Given the description of an element on the screen output the (x, y) to click on. 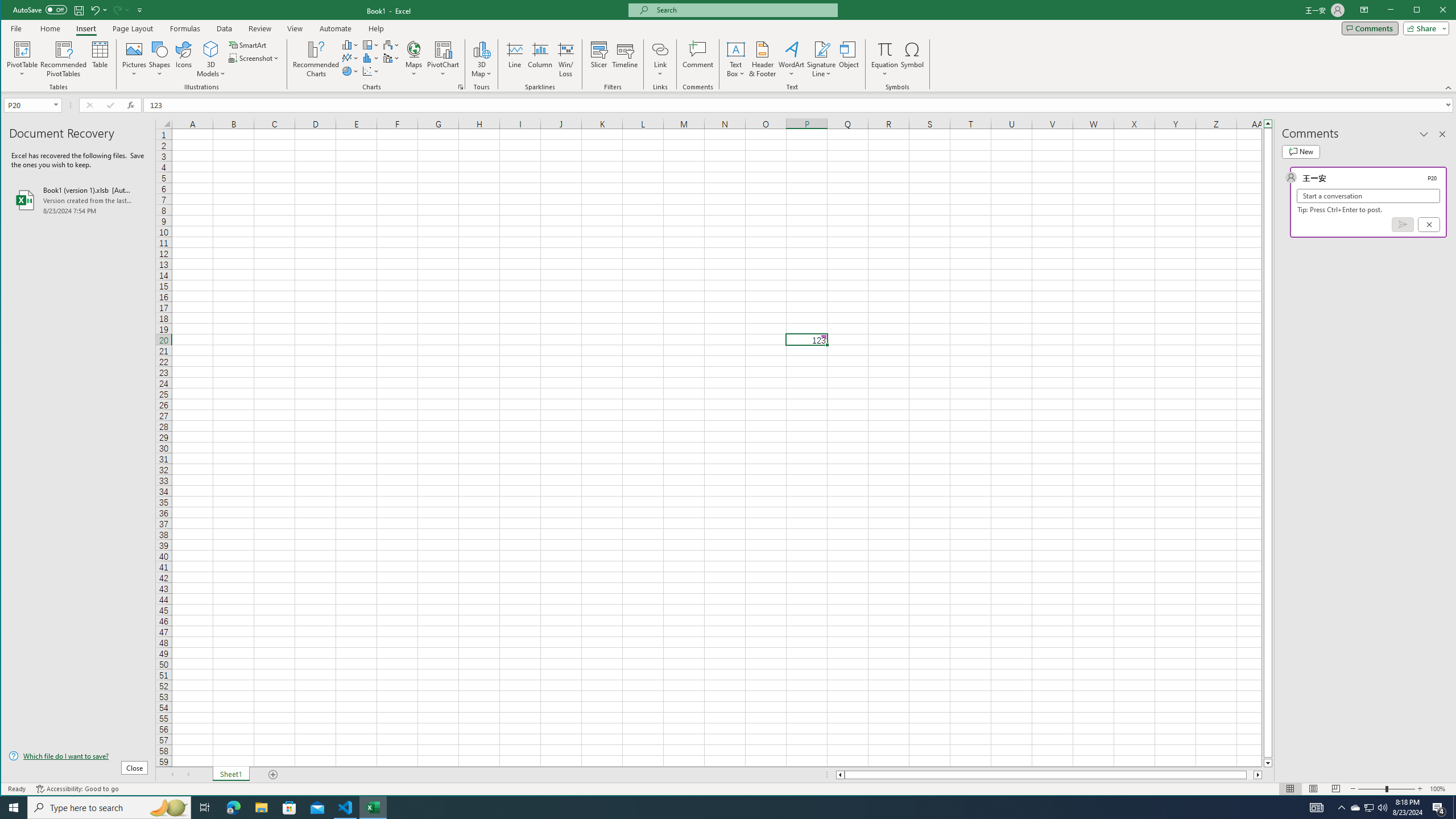
Insert Combo Chart (391, 57)
Insert Waterfall, Funnel, Stock, Surface, or Radar Chart (391, 44)
Link (659, 48)
Running applications (717, 807)
Maps (413, 59)
3D Models (211, 59)
Pictures (134, 59)
Insert Line or Area Chart (350, 57)
Comment (697, 59)
Type here to search (108, 807)
